Given the description of an element on the screen output the (x, y) to click on. 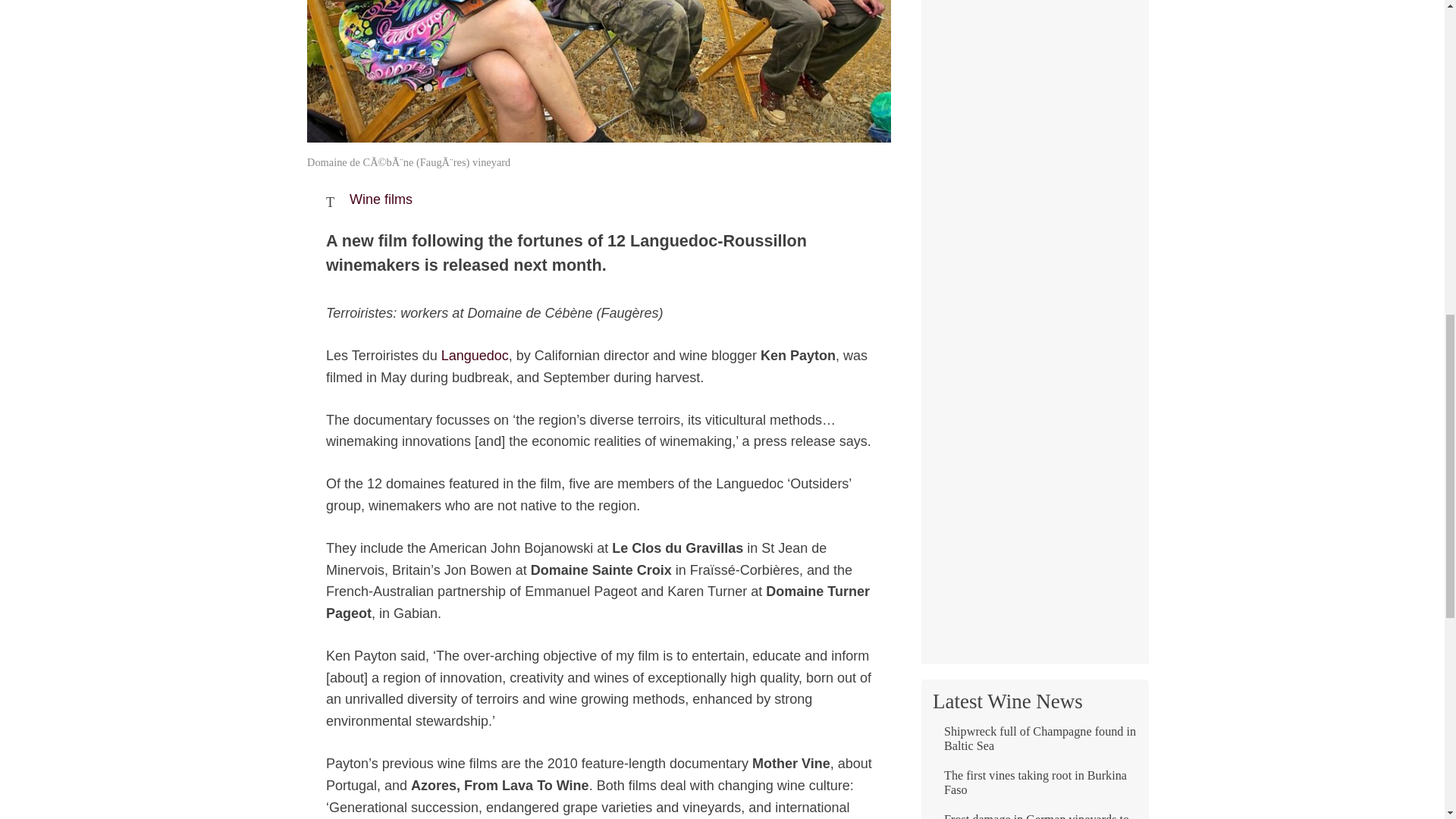
Frost damage in German vineyards to cost millions (1035, 816)
Shipwreck full of Champagne found in Baltic Sea (1035, 744)
The first vines taking root in Burkina Faso (1035, 789)
